Given the description of an element on the screen output the (x, y) to click on. 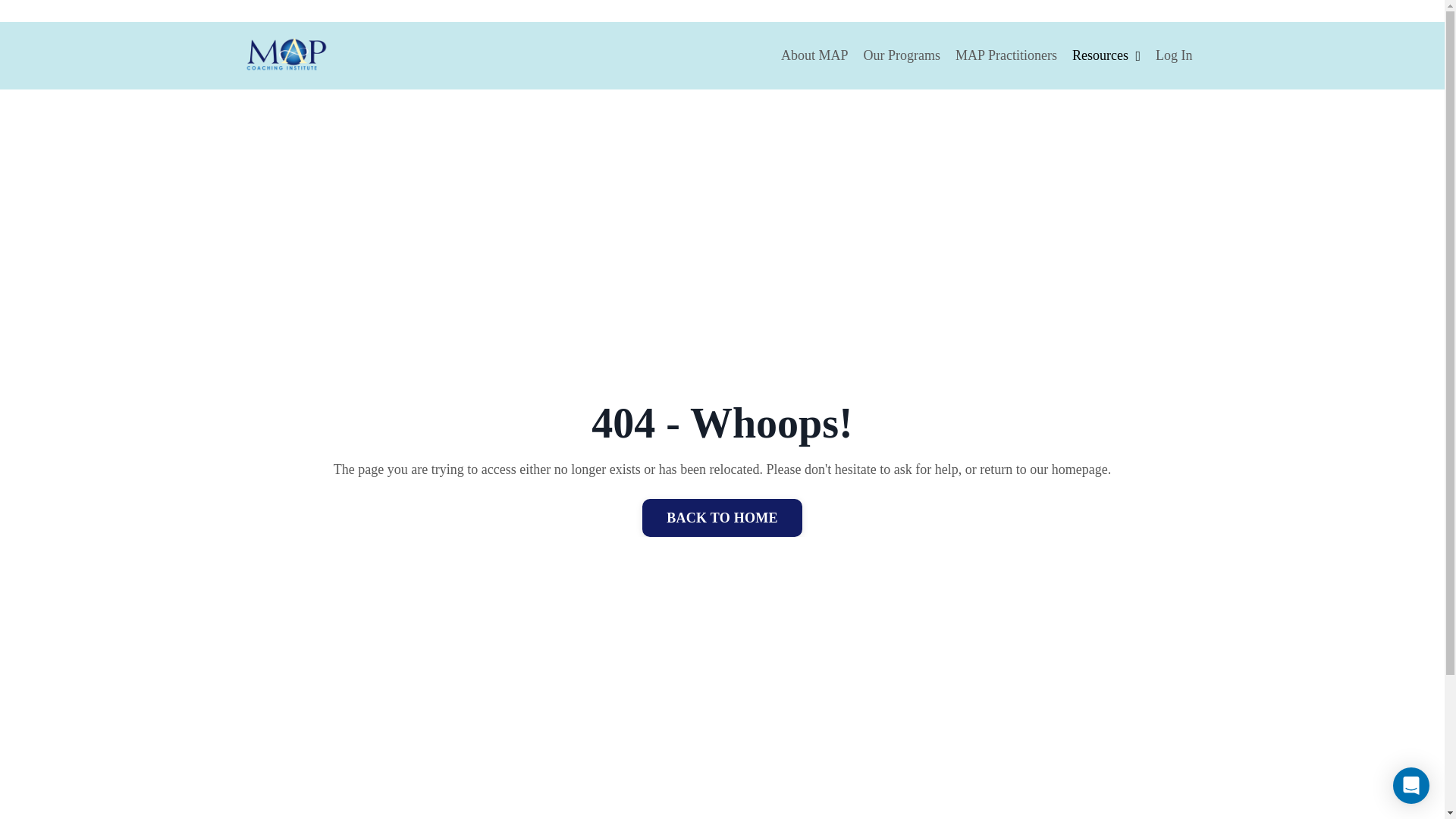
Our Programs (901, 55)
Log In (1174, 55)
Resources (1105, 55)
About MAP (814, 55)
MAP Practitioners (1006, 55)
BACK TO HOME (722, 517)
